Given the description of an element on the screen output the (x, y) to click on. 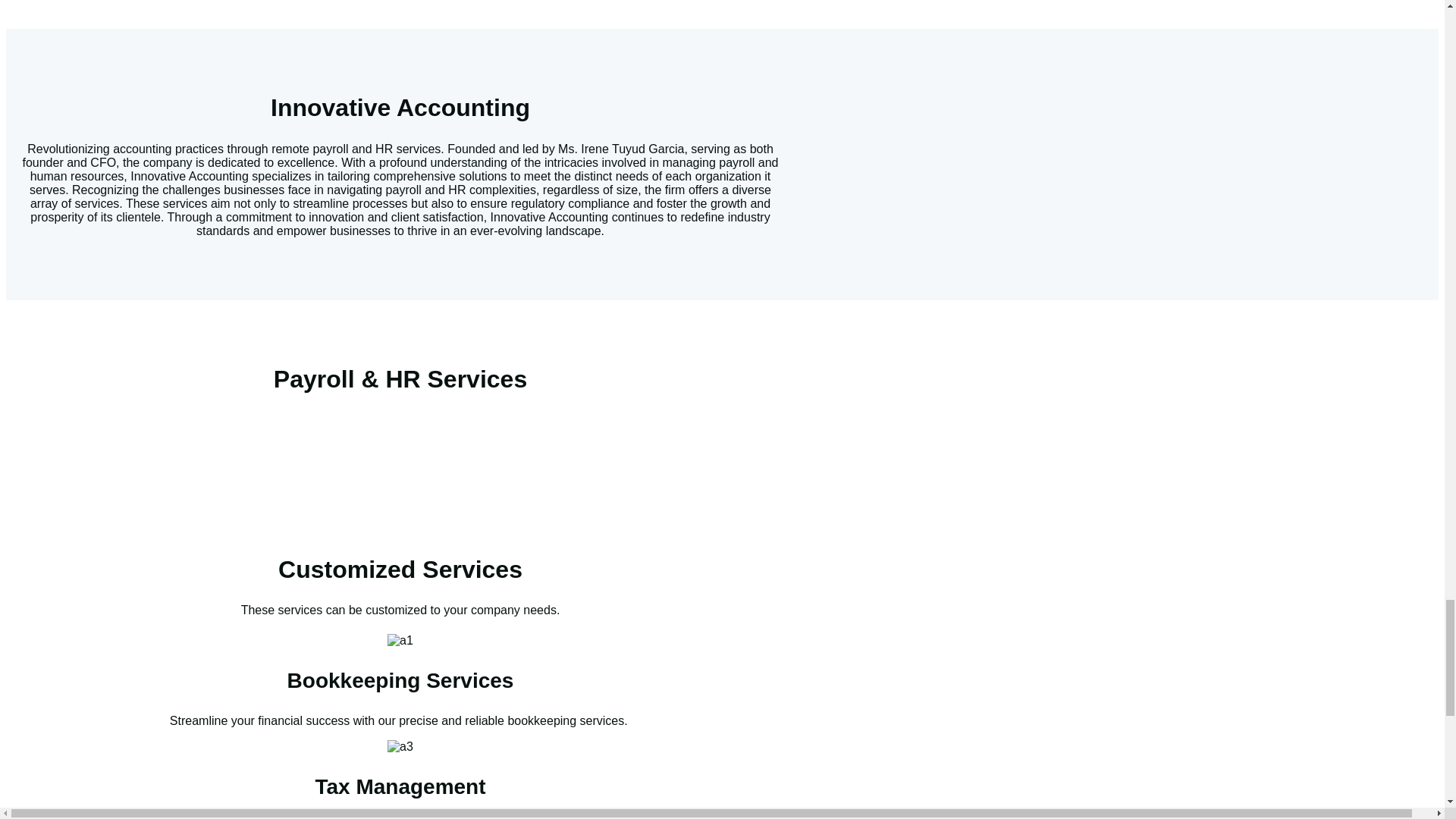
a1 (400, 640)
a3 (400, 746)
